Given the description of an element on the screen output the (x, y) to click on. 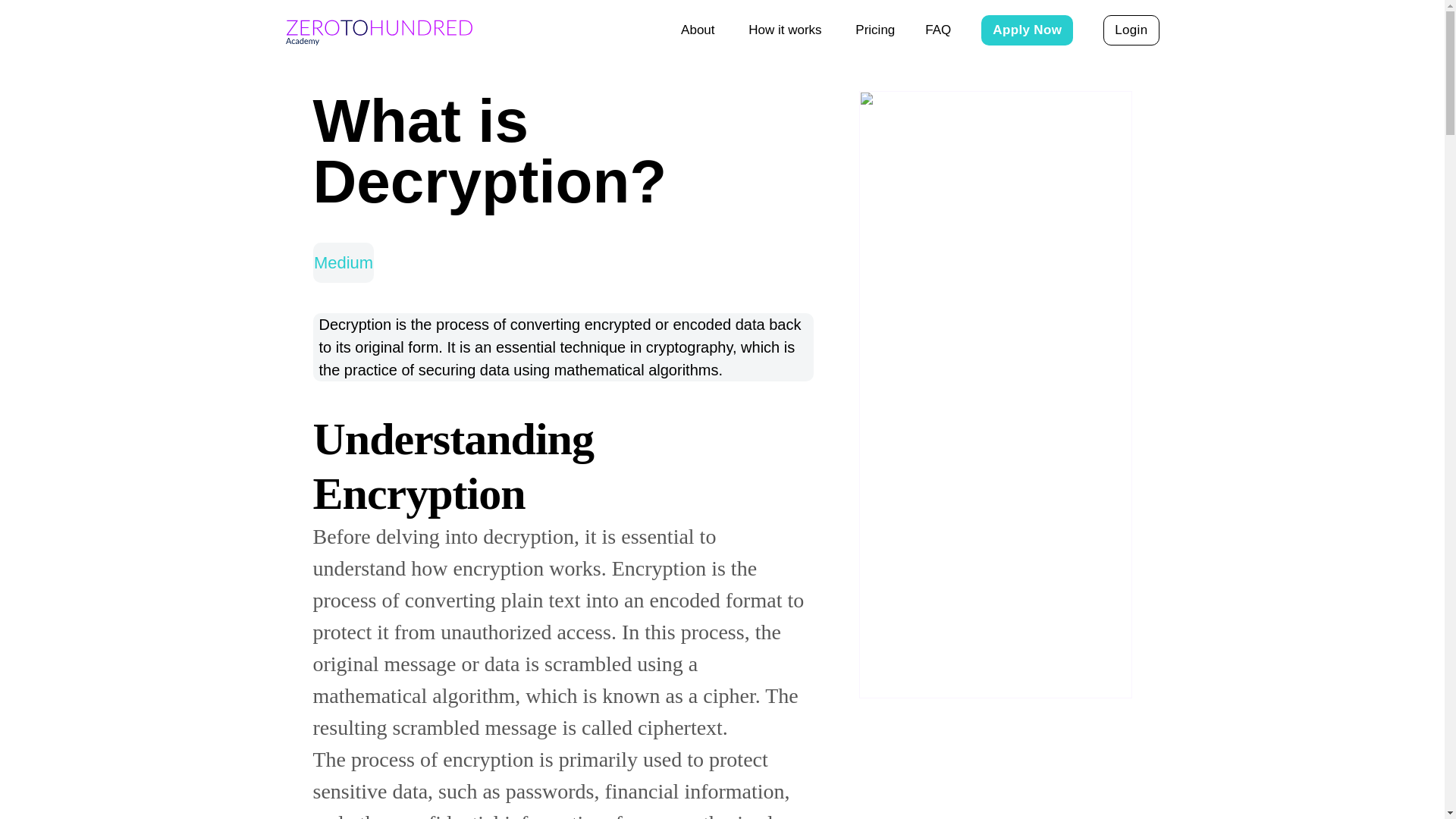
Apply Now (1027, 30)
How it works  (786, 29)
About  (699, 29)
Login (1130, 30)
FAQ (937, 29)
Pricing (875, 29)
